Given the description of an element on the screen output the (x, y) to click on. 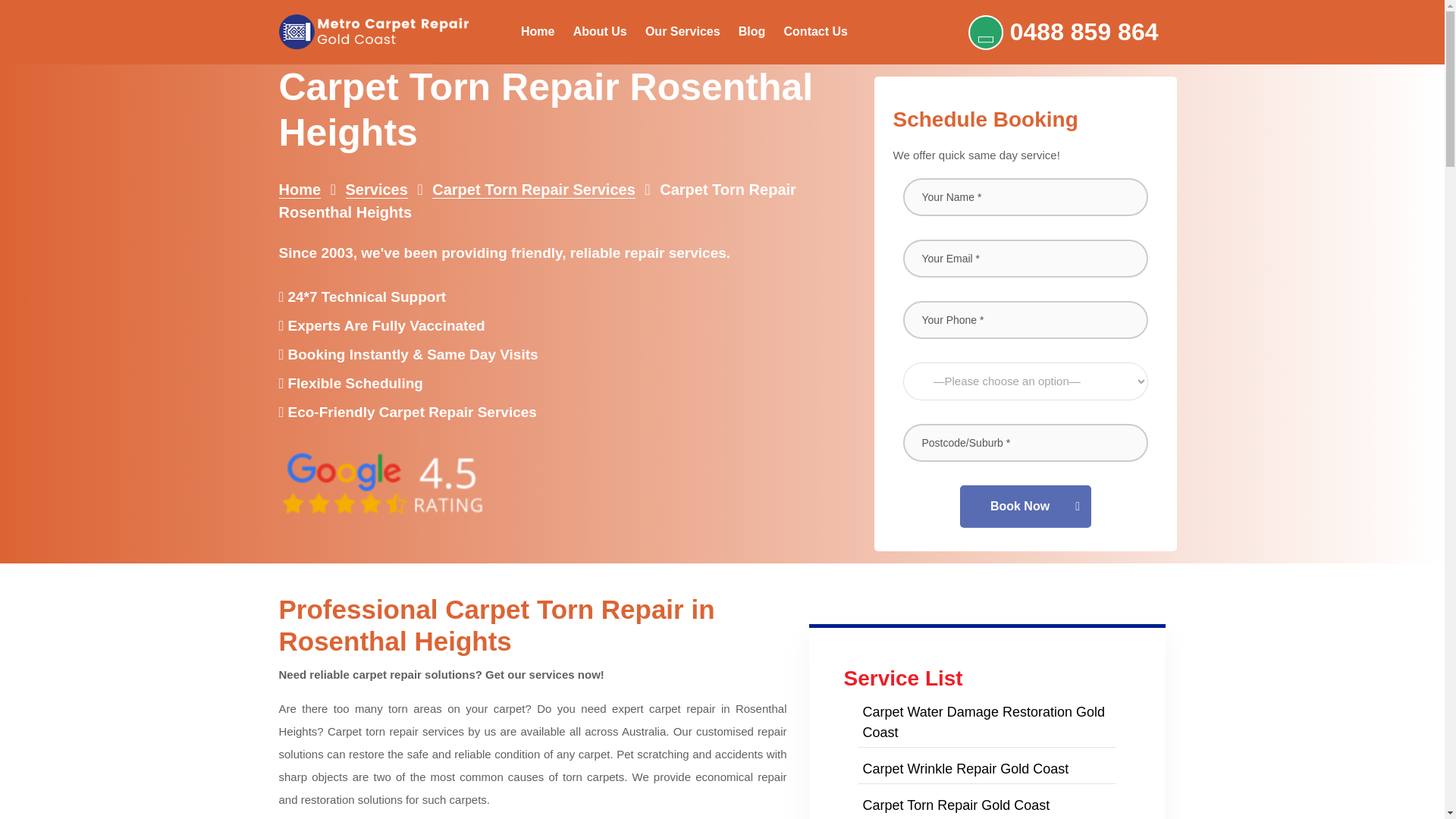
Go to Metro Carpet Repair Gold Coast. (300, 189)
0488 859 864 (1063, 31)
Book Now (1024, 506)
Go to Services. (376, 189)
Carpet Torn Repair Gold Coast (955, 805)
Contact Us (815, 31)
Services (376, 189)
Carpet Water Damage Restoration Gold Coast (982, 722)
Home (300, 189)
Carpet Torn Repair Services (533, 189)
Our Services (682, 31)
Carpet Wrinkle Repair Gold Coast (964, 768)
